Given the description of an element on the screen output the (x, y) to click on. 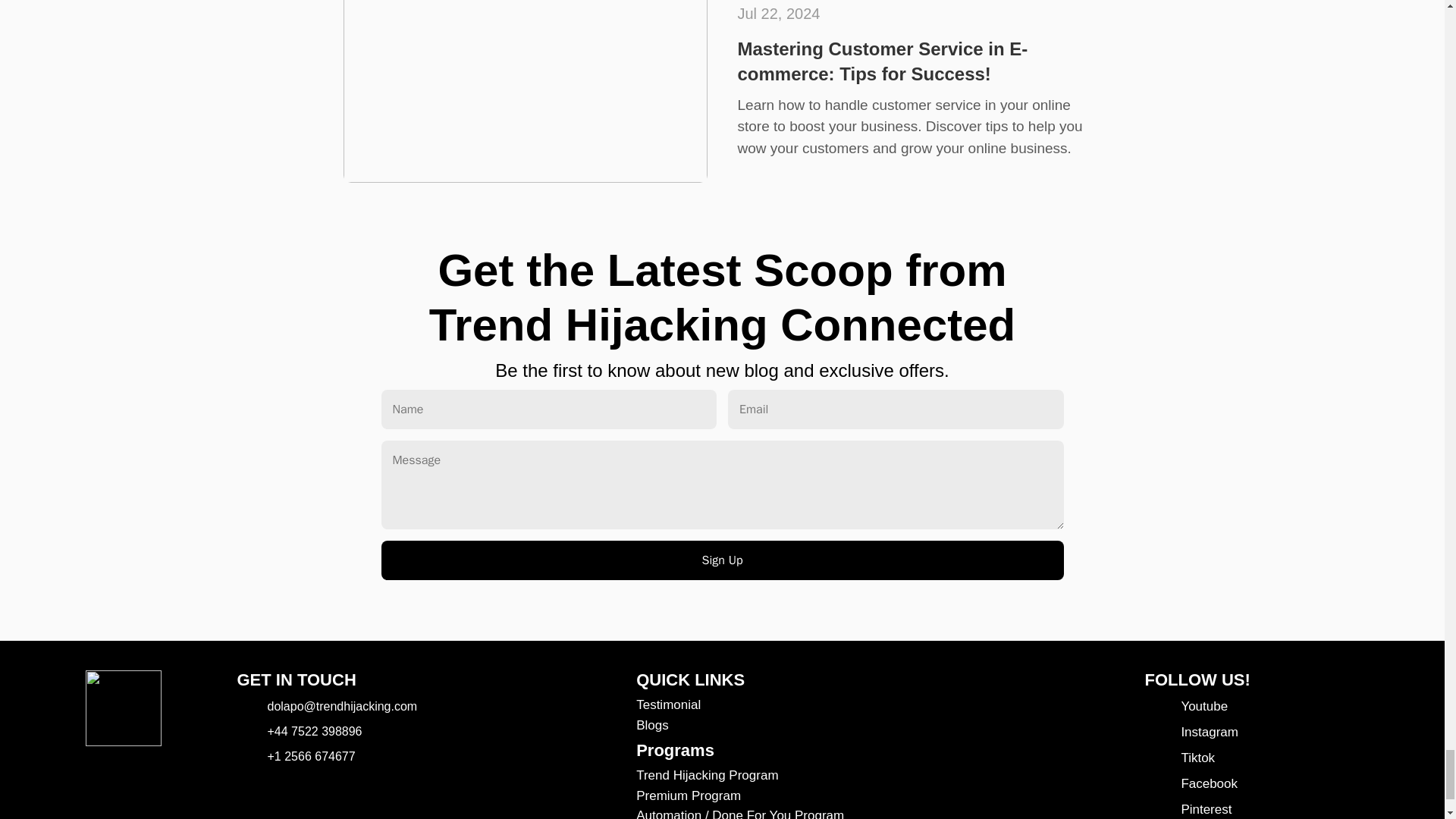
Sign Up (721, 559)
